Given the description of an element on the screen output the (x, y) to click on. 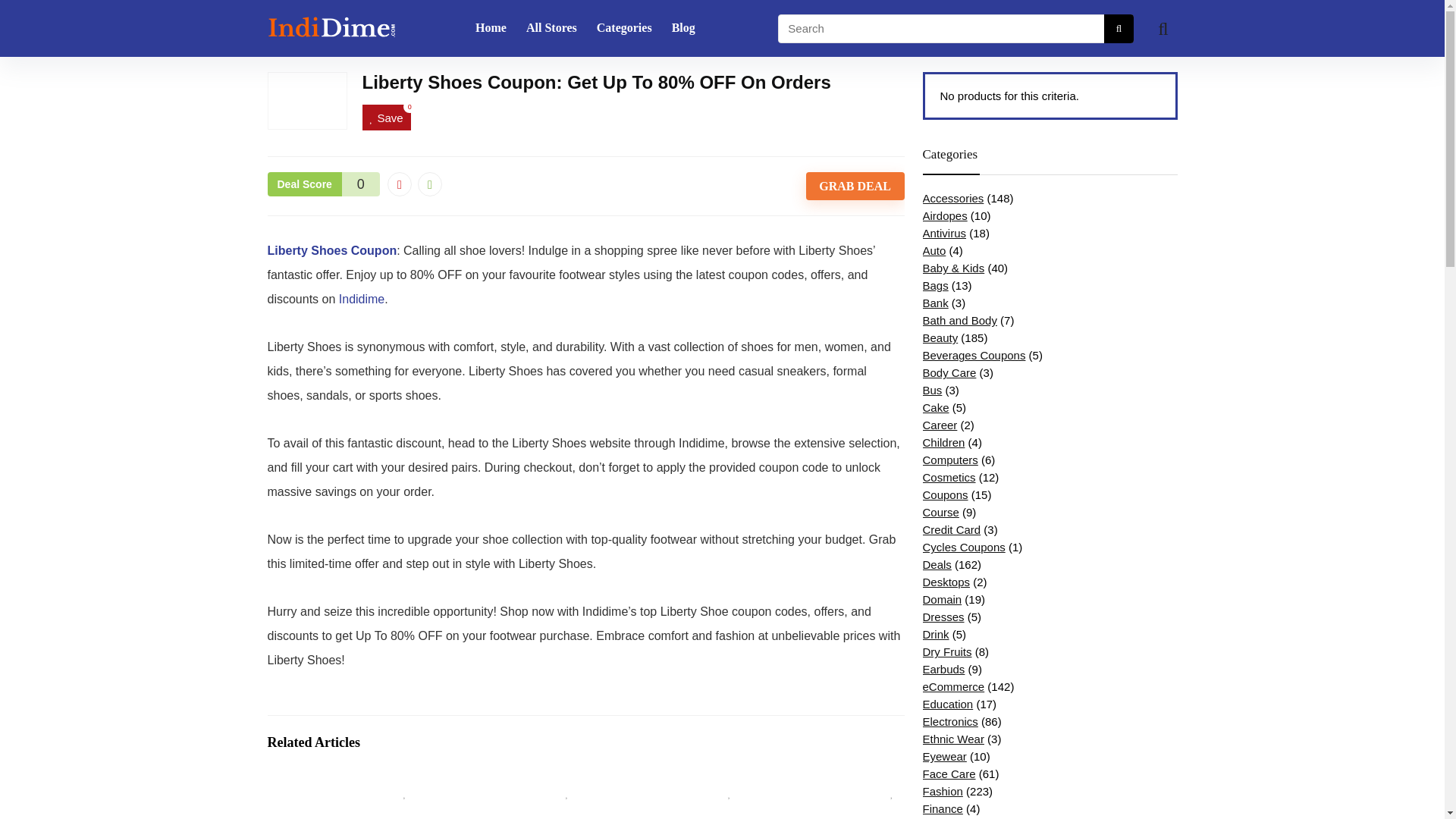
Auto (932, 250)
Accessories (952, 197)
GRAB DEAL (855, 185)
Body Care (948, 372)
Home (490, 28)
Beauty (939, 337)
Liberty Shoes Coupon (331, 250)
Beverages Coupons (973, 354)
Vote up (429, 183)
Indidime (361, 298)
Categories (624, 28)
Airdopes (943, 215)
Blog (683, 28)
All Stores (551, 28)
Antivirus (943, 232)
